Given the description of an element on the screen output the (x, y) to click on. 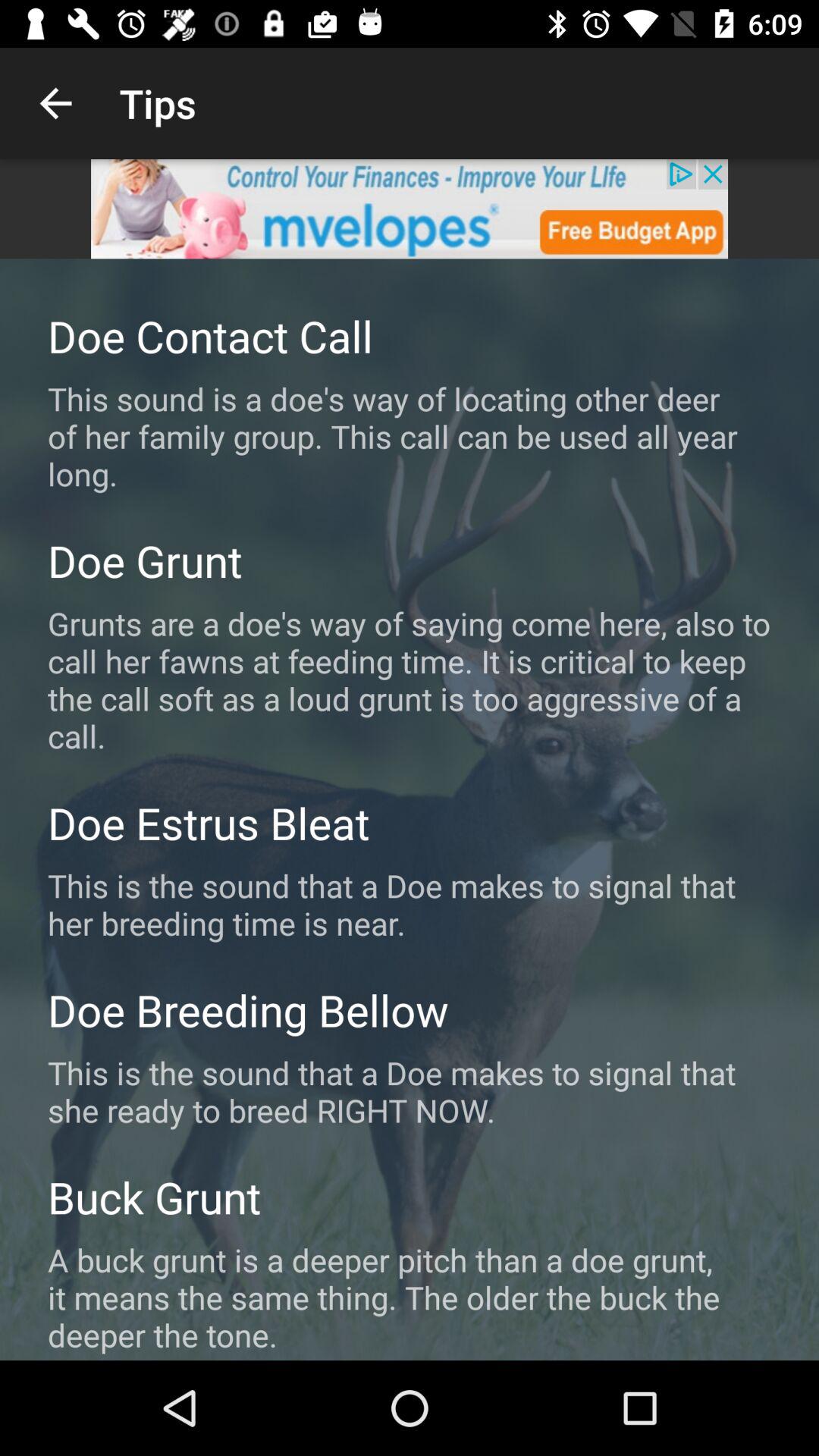
advertisement (409, 208)
